Given the description of an element on the screen output the (x, y) to click on. 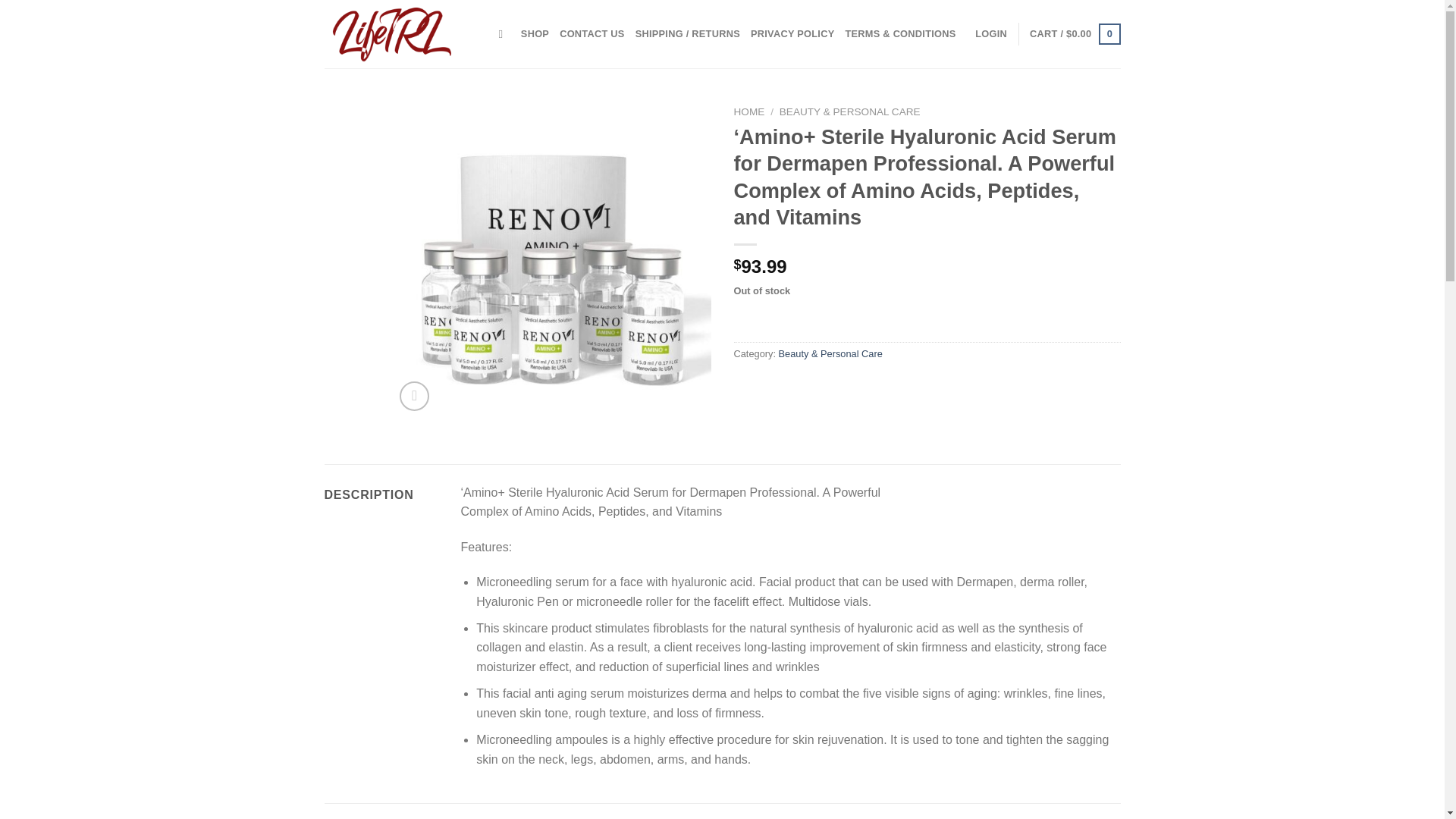
Zoom (413, 396)
Cart (1074, 34)
SHOP (534, 33)
LifeIRL - Health Supplements (400, 33)
LOGIN (991, 33)
CONTACT US (591, 33)
PRIVACY POLICY (792, 33)
HOME (749, 111)
